Given the description of an element on the screen output the (x, y) to click on. 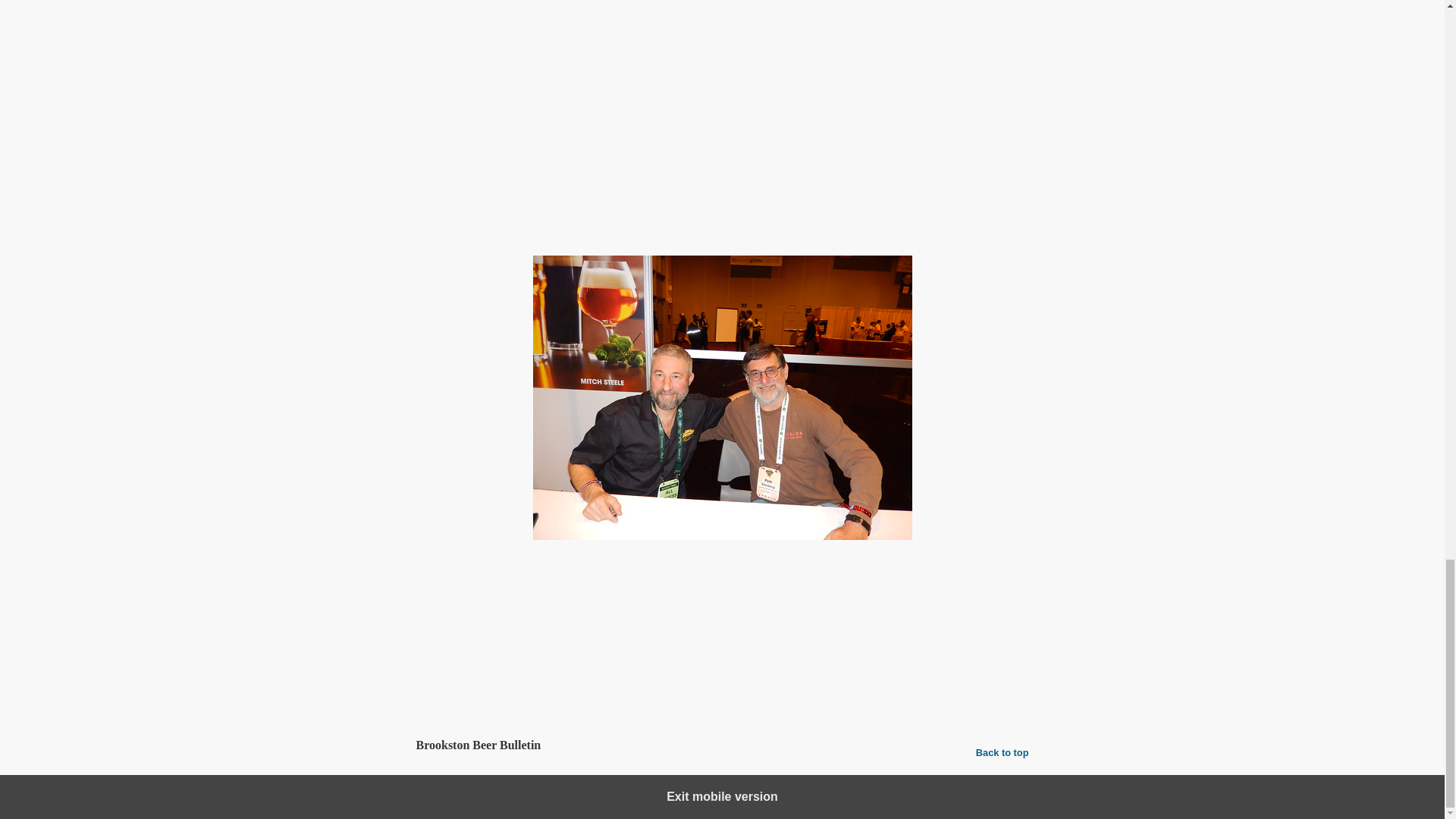
Birthdays (494, 605)
Back to top (1002, 752)
Just For Fun (552, 605)
View Comments (721, 686)
California (466, 637)
Northern California (540, 637)
